Given the description of an element on the screen output the (x, y) to click on. 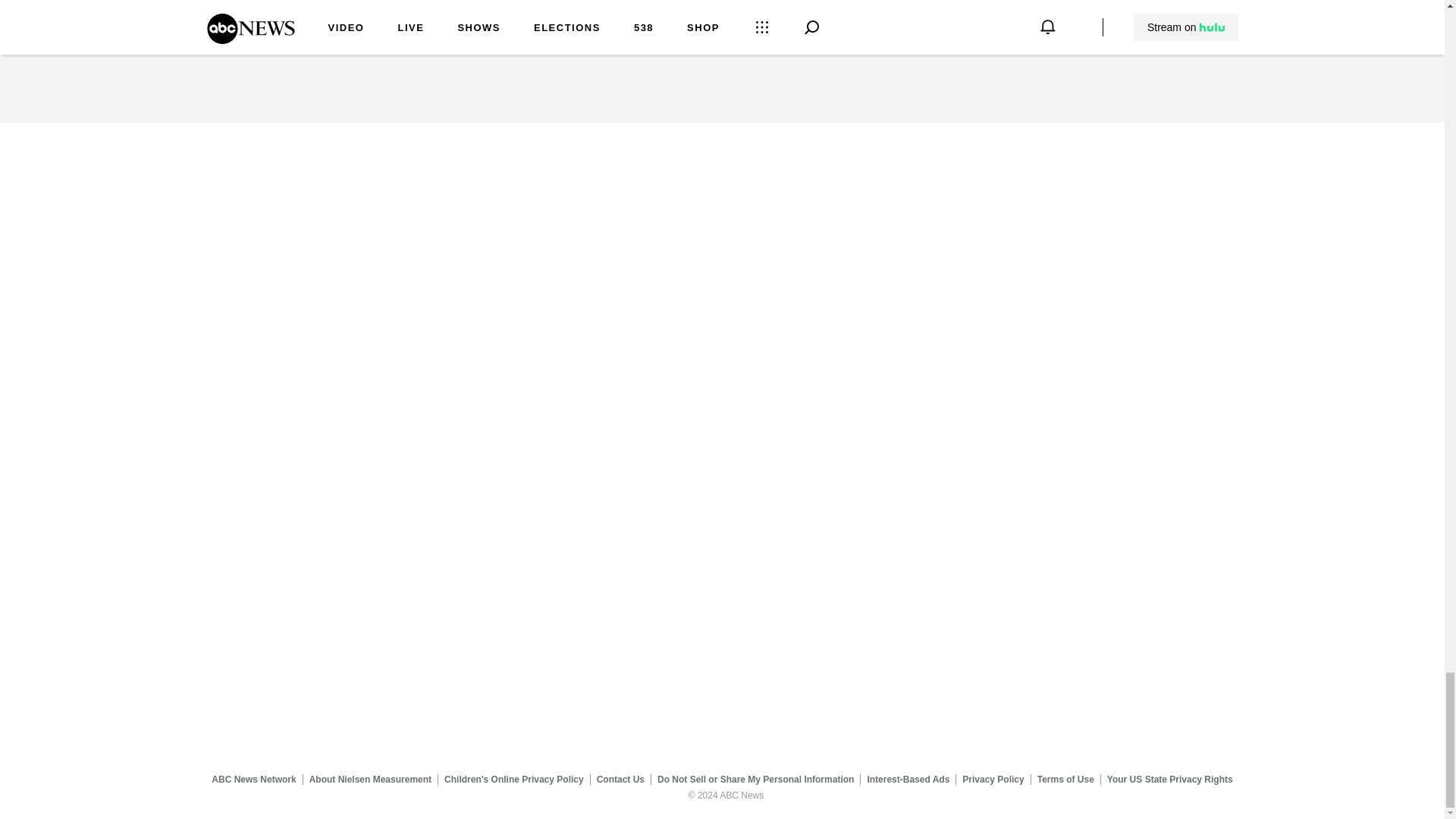
ABC News Network (253, 778)
Contact Us (620, 778)
Children's Online Privacy Policy (514, 778)
Do Not Sell or Share My Personal Information (755, 778)
Interest-Based Ads (908, 778)
About Nielsen Measurement (370, 778)
